Given the description of an element on the screen output the (x, y) to click on. 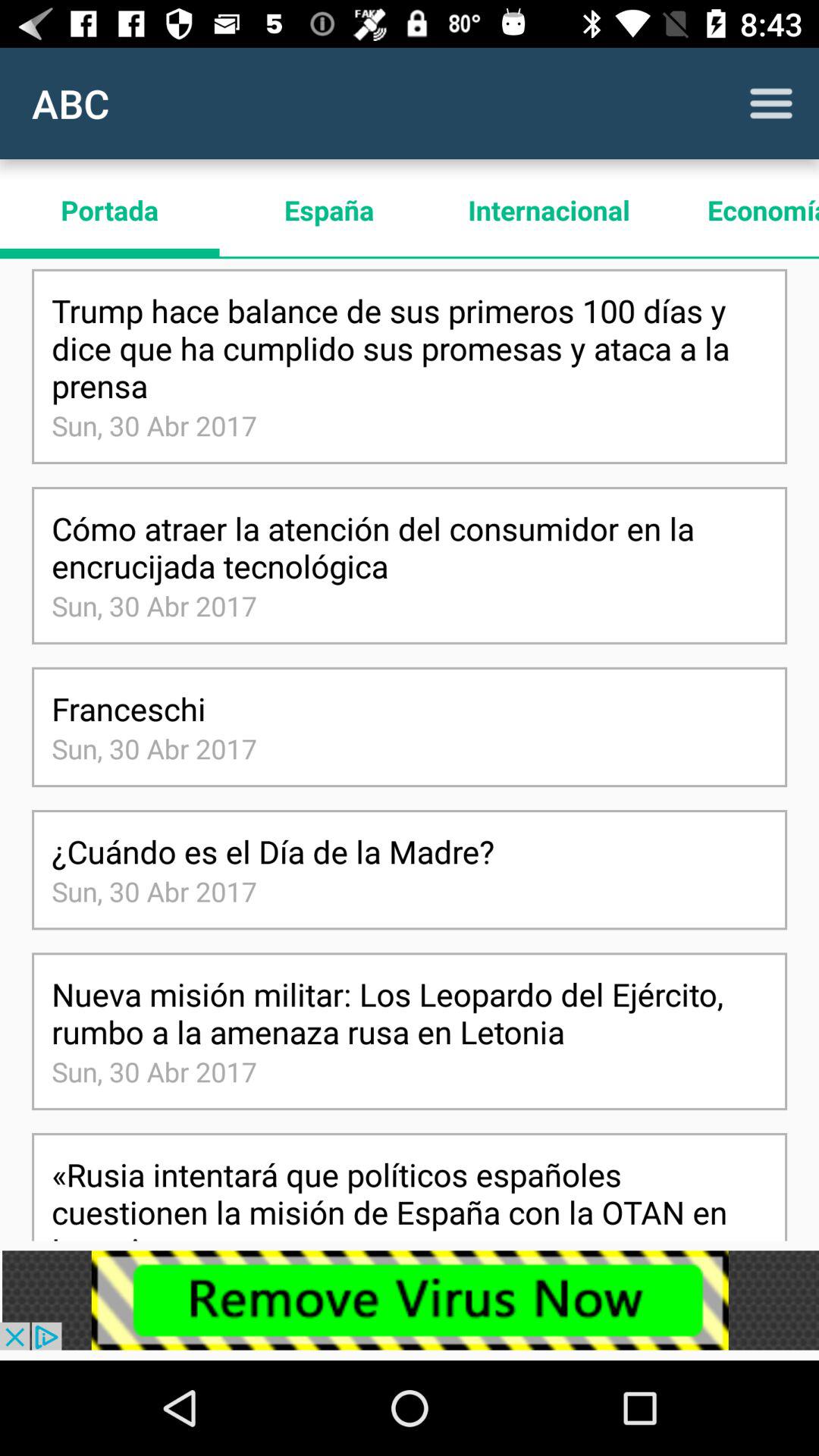
toggle autoplay option (771, 103)
